Given the description of an element on the screen output the (x, y) to click on. 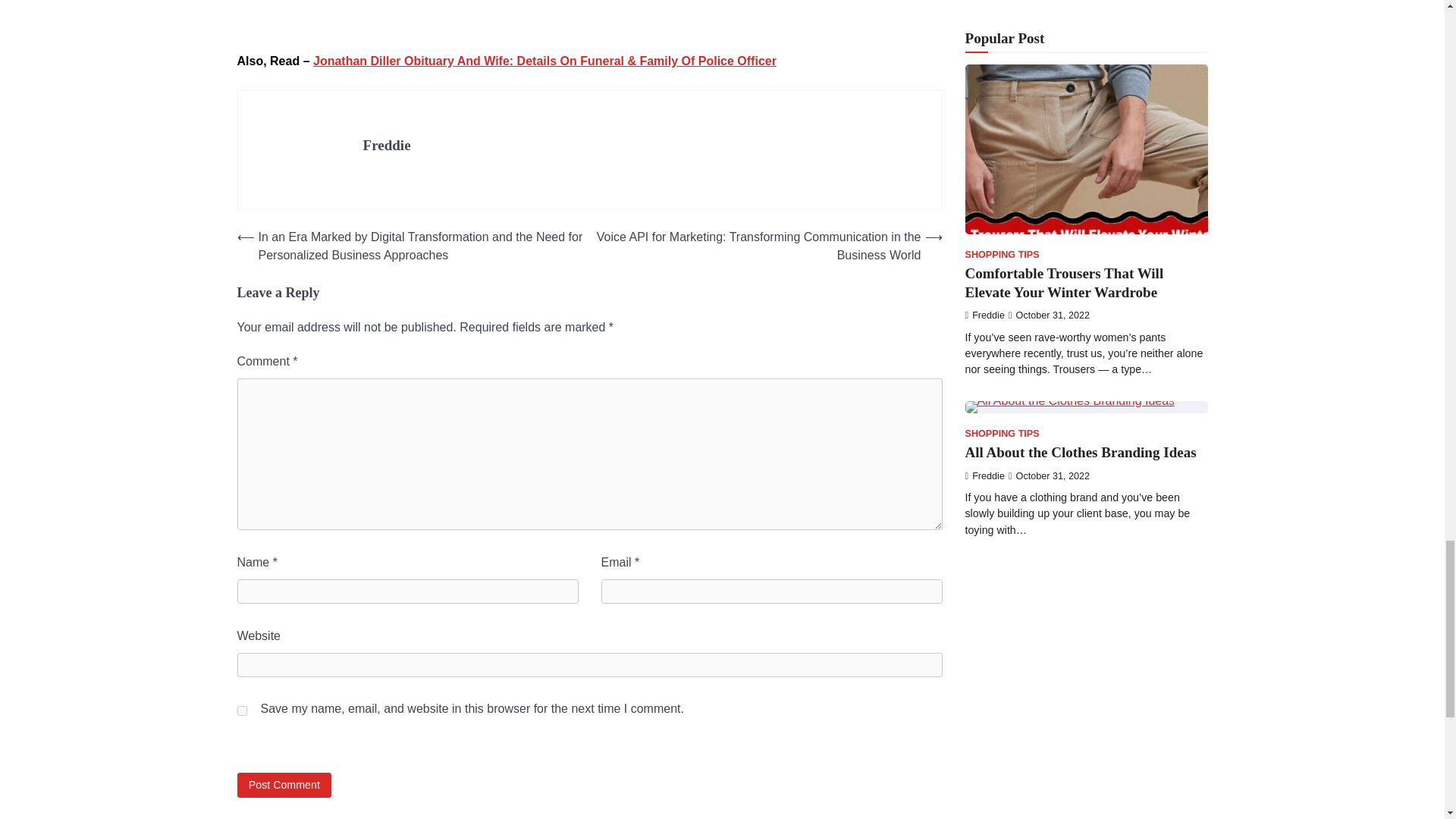
yes (240, 710)
Post Comment (283, 785)
